Given the description of an element on the screen output the (x, y) to click on. 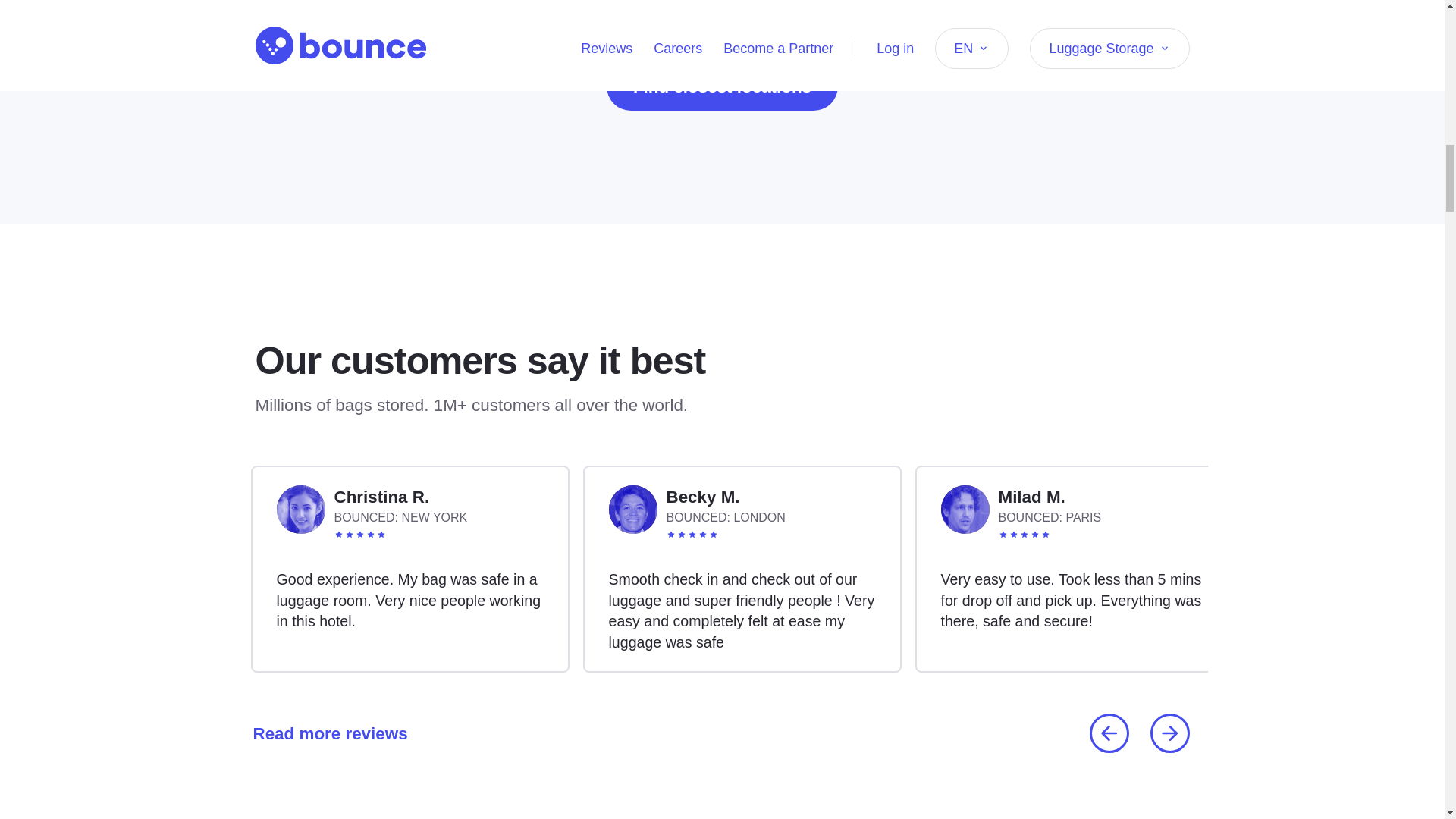
Find closest locations (722, 86)
Read more reviews (324, 733)
